Given the description of an element on the screen output the (x, y) to click on. 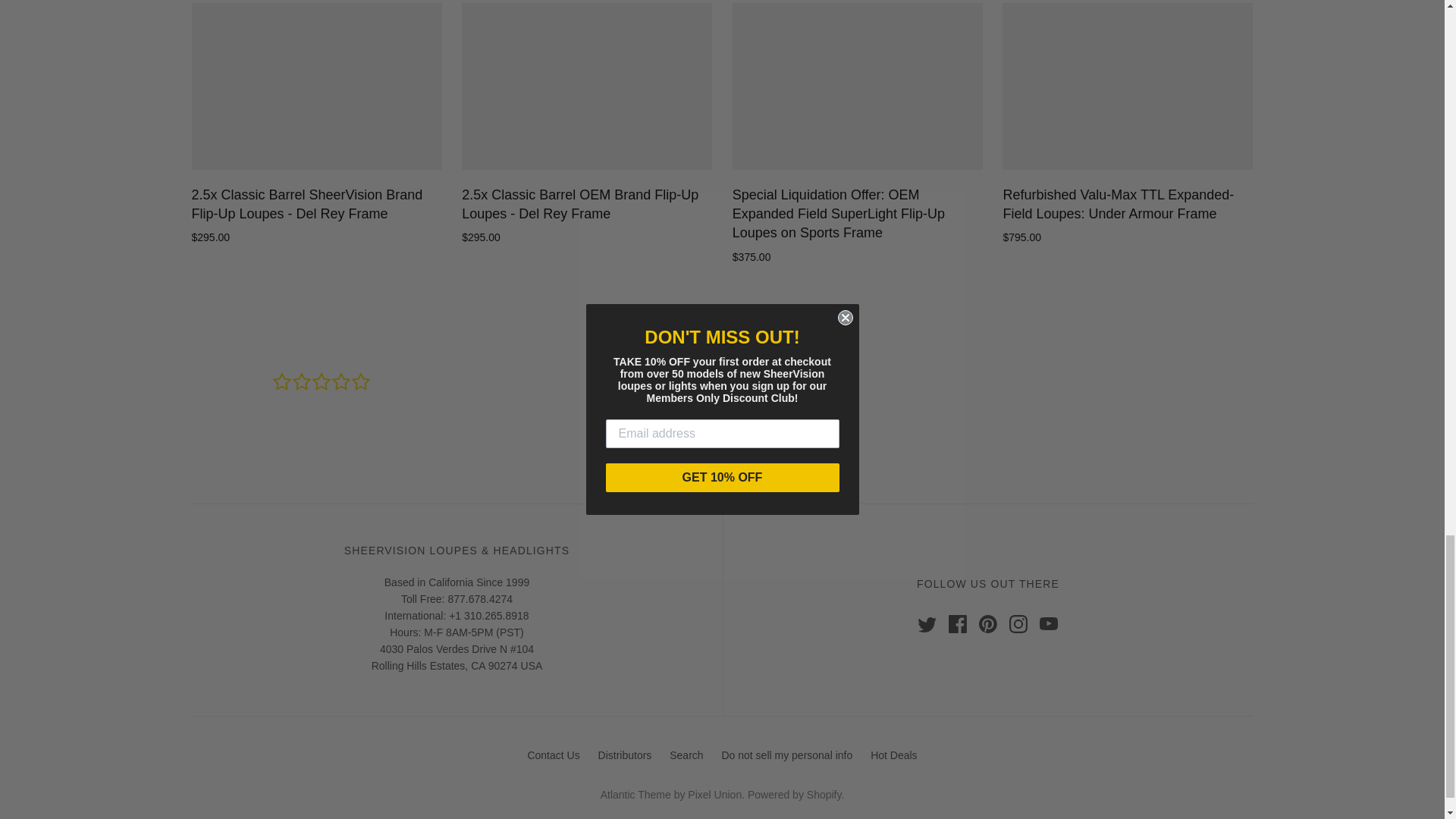
Facebook Icon (957, 624)
Instagram Icon (1018, 624)
Twitter Icon (927, 624)
Product reviews widget (721, 405)
Pinterest Icon (987, 624)
Youtube Icon (1048, 624)
